Given the description of an element on the screen output the (x, y) to click on. 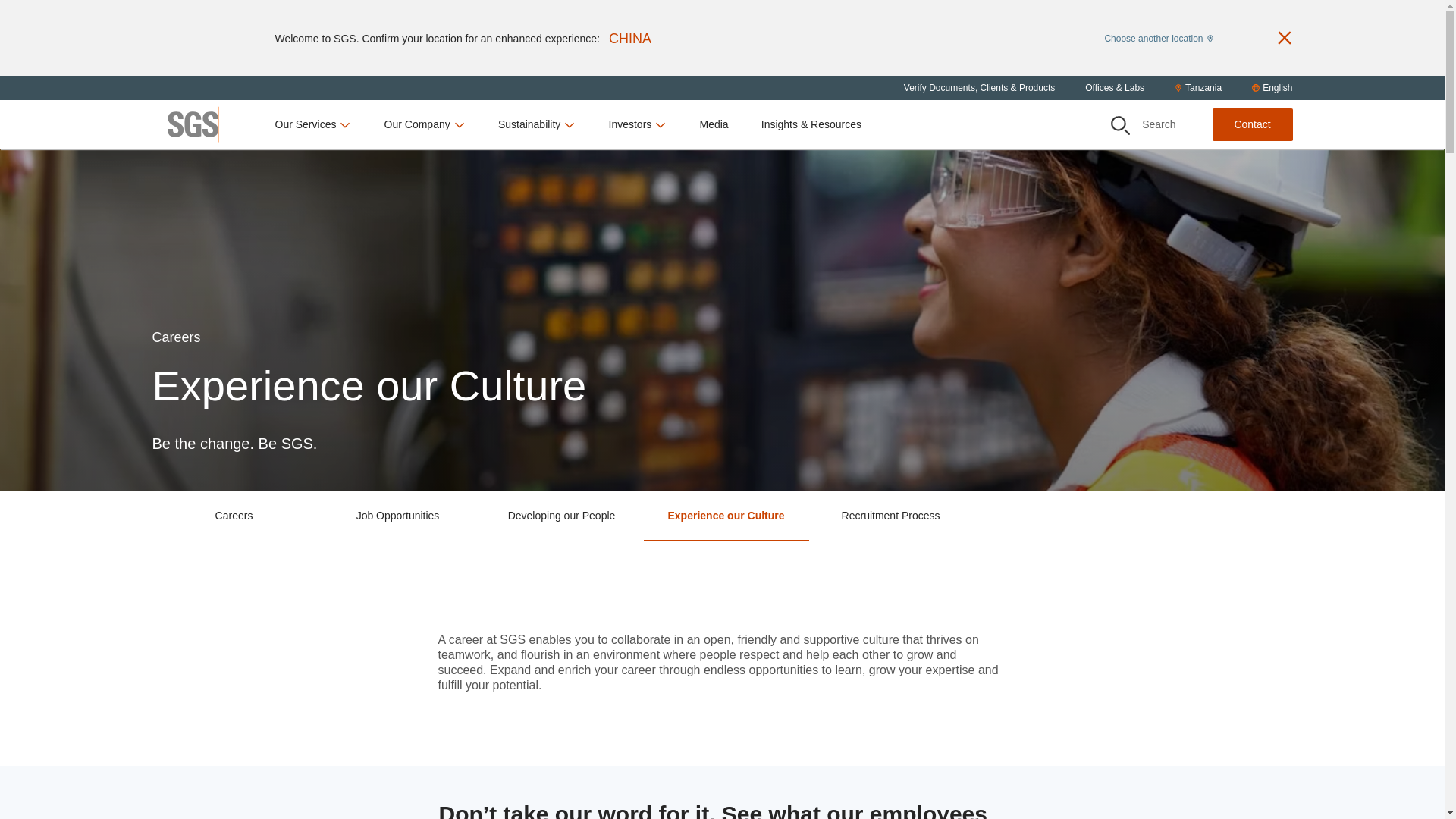
Search (1143, 124)
Recruitment Process (890, 516)
CHINA (629, 38)
Search (1119, 125)
Careers (233, 499)
Choose another location (1157, 37)
Sustainability (536, 124)
Investors (637, 124)
Media (713, 124)
Developing our People (561, 516)
Our Company (424, 124)
Tanzania (1197, 87)
Experience our Culture (725, 516)
Developing our People (561, 499)
